Given the description of an element on the screen output the (x, y) to click on. 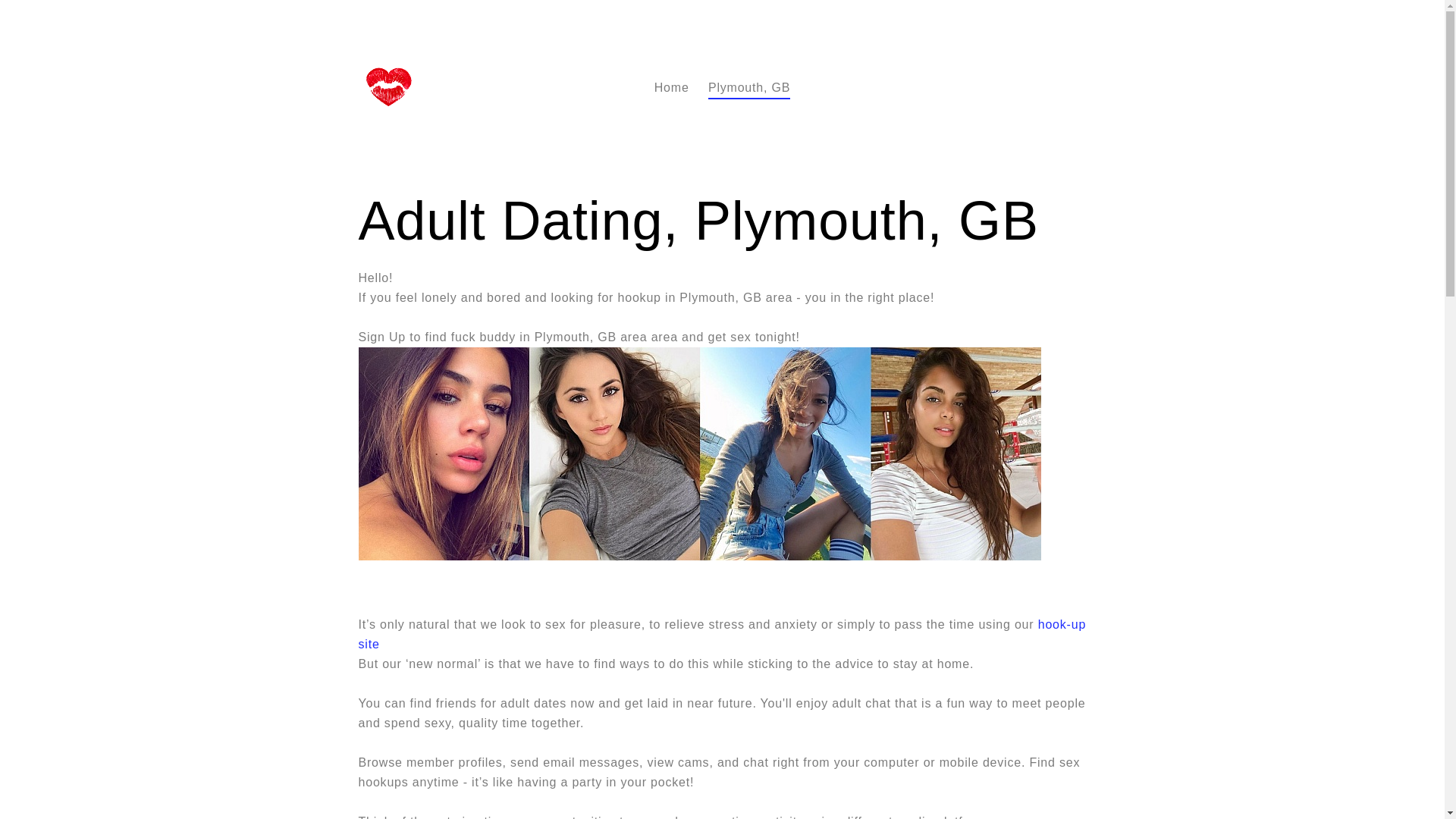
hook-up site (722, 634)
Home (670, 87)
Plymouth, GB (748, 87)
